Given the description of an element on the screen output the (x, y) to click on. 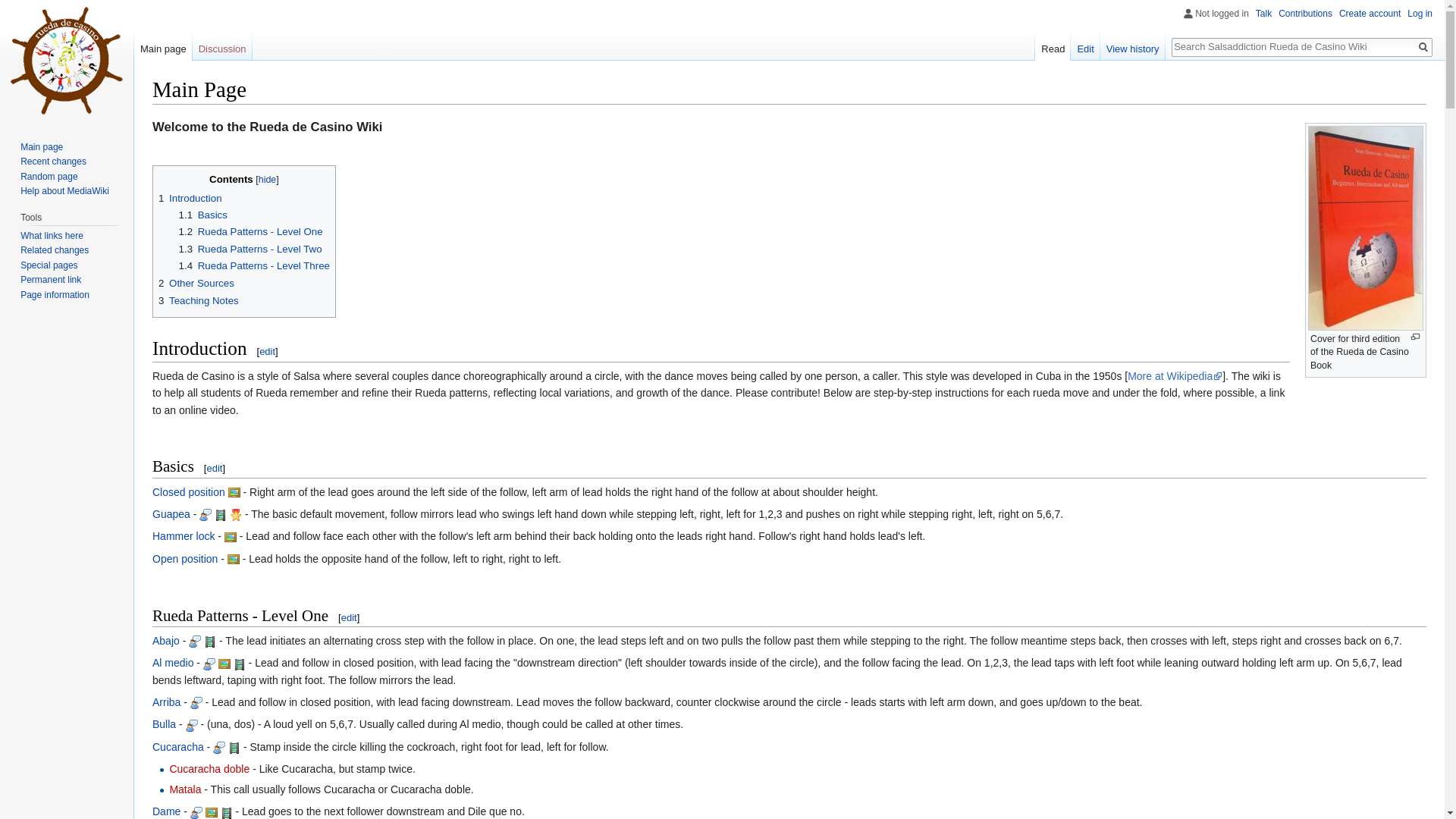
1.1 Basics (203, 214)
This move has photos (234, 491)
Open position (184, 558)
2 Other Sources (196, 283)
Abajo (165, 640)
1.2 Rueda Patterns - Level One (251, 231)
This move has videos of advanced styling (235, 513)
Enlarge (1415, 336)
Hammer lock (183, 535)
Arriba (166, 702)
Edit section: Introduction (267, 351)
Open position (184, 558)
edit (267, 351)
Go (1423, 46)
Al medio (172, 662)
